Given the description of an element on the screen output the (x, y) to click on. 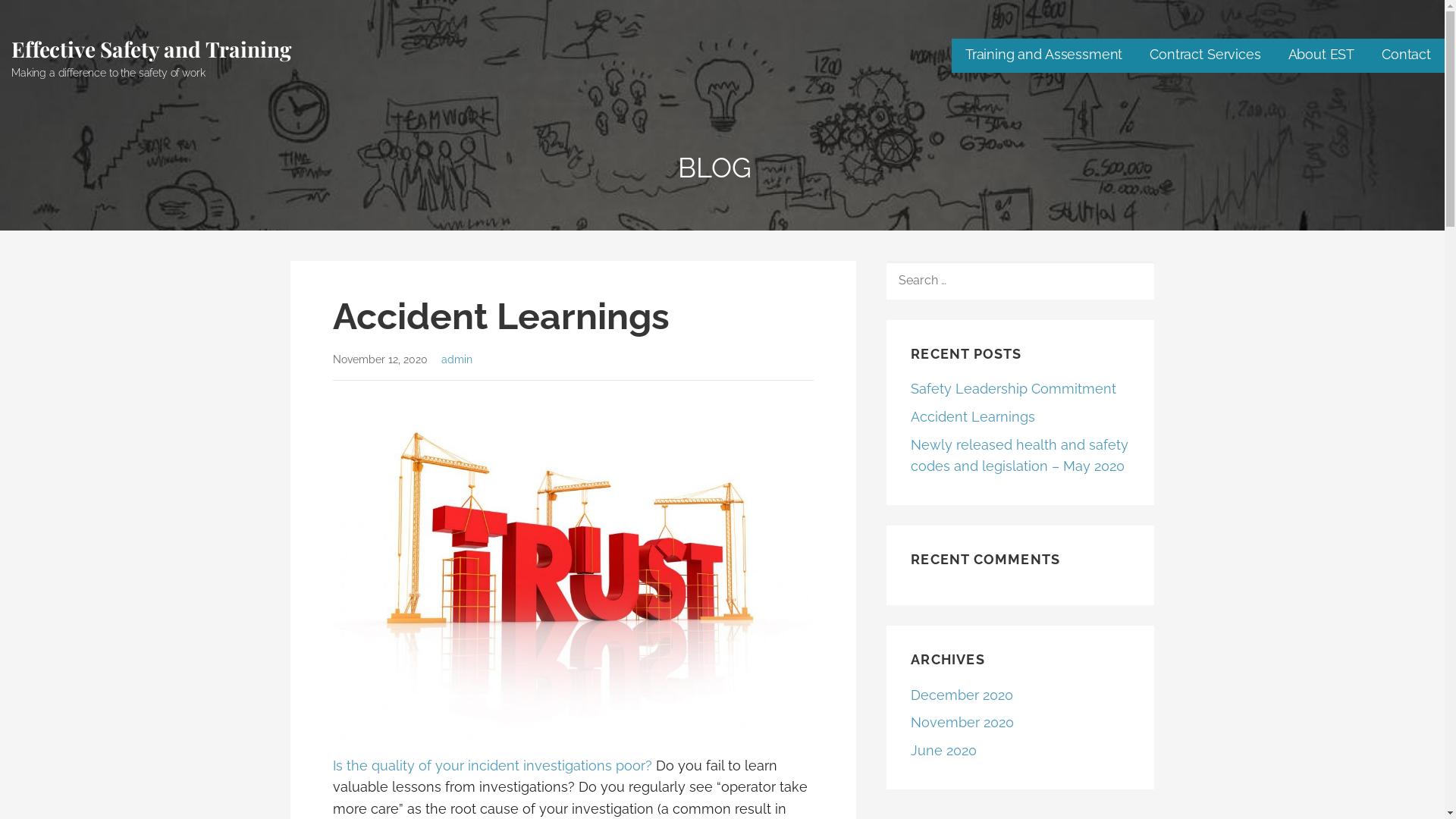
Training and Assessment Element type: text (1043, 55)
November 2020 Element type: text (961, 722)
Safety Leadership Commitment Element type: text (1013, 388)
Accident Learnings Element type: text (972, 416)
About EST Element type: text (1321, 55)
Is the quality of your incident investigations poor? Element type: text (491, 765)
Contact Element type: text (1405, 55)
June 2020 Element type: text (943, 750)
Contract Services Element type: text (1204, 55)
December 2020 Element type: text (961, 694)
admin Element type: text (456, 358)
Effective Safety and Training Element type: text (150, 48)
Search Element type: text (46, 17)
